Given the description of an element on the screen output the (x, y) to click on. 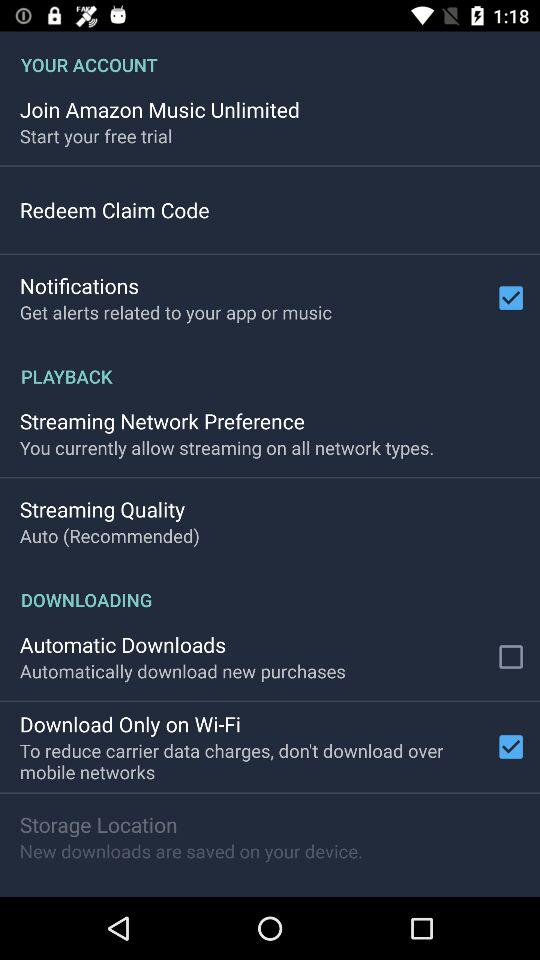
choose streaming quality (102, 509)
